Given the description of an element on the screen output the (x, y) to click on. 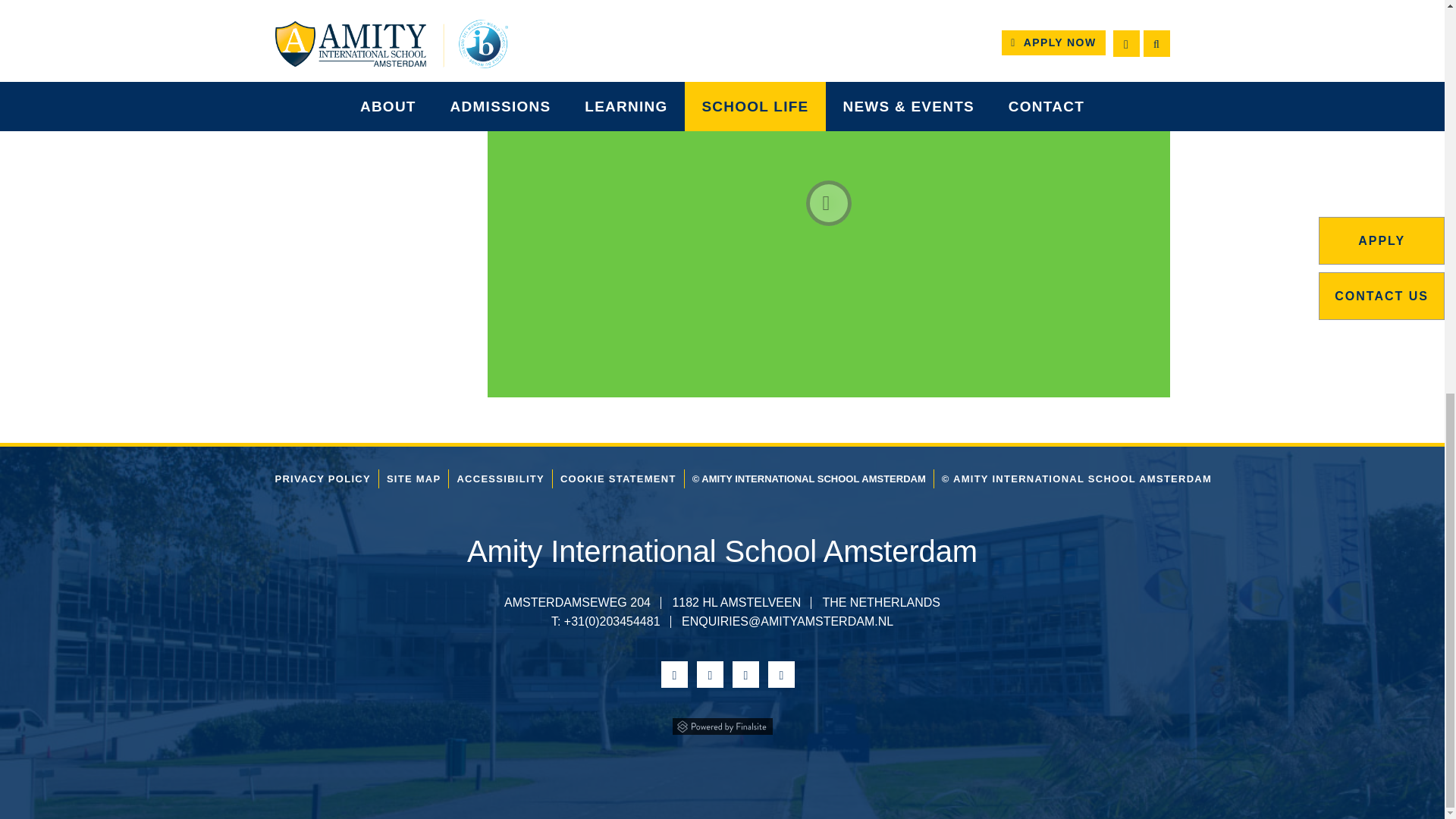
Powered by Finalsite opens in a new window (722, 724)
Amity International School Amsterdam (721, 551)
